Given the description of an element on the screen output the (x, y) to click on. 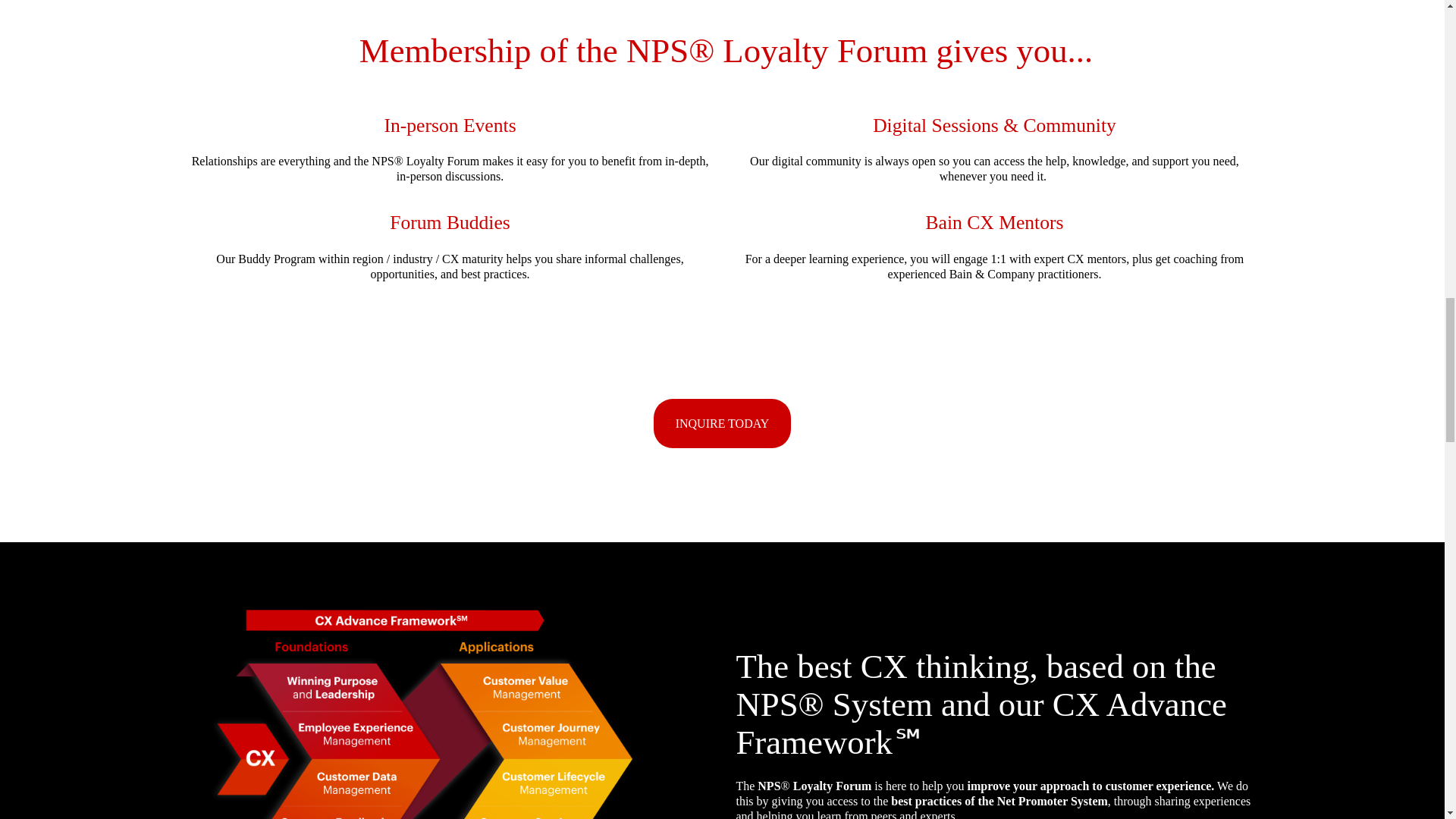
inquire today (721, 422)
